Given the description of an element on the screen output the (x, y) to click on. 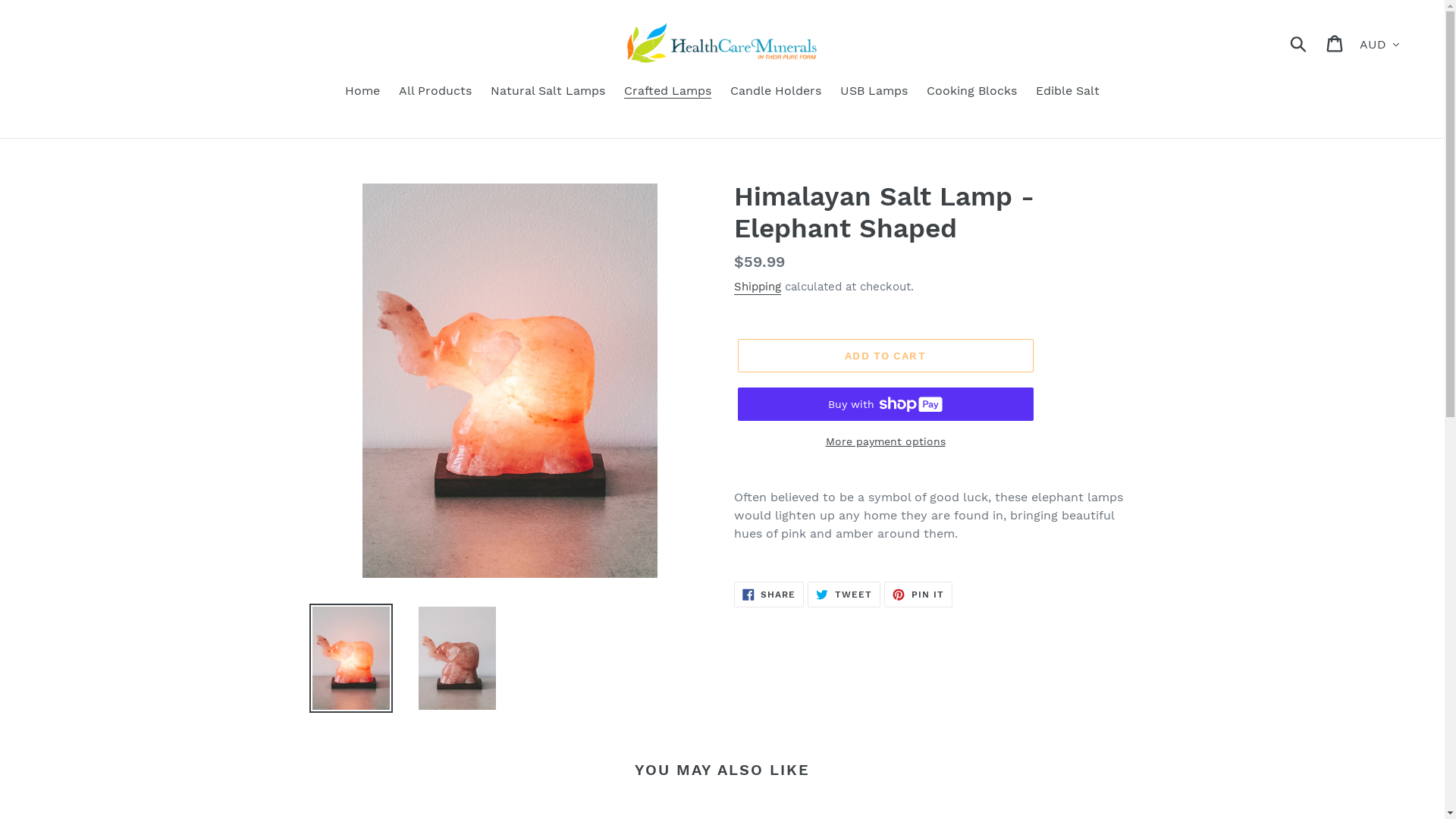
Natural Salt Lamps Element type: text (547, 91)
Crafted Lamps Element type: text (667, 91)
Home Element type: text (362, 91)
Cooking Blocks Element type: text (971, 91)
Cart Element type: text (1335, 42)
Edible Salt Element type: text (1067, 91)
Candle Holders Element type: text (775, 91)
More payment options Element type: text (884, 441)
TWEET
TWEET ON TWITTER Element type: text (843, 594)
USB Lamps Element type: text (873, 91)
Shipping Element type: text (757, 286)
SHARE
SHARE ON FACEBOOK Element type: text (769, 594)
PIN IT
PIN ON PINTEREST Element type: text (918, 594)
Submit Element type: text (1298, 42)
All Products Element type: text (435, 91)
ADD TO CART Element type: text (884, 355)
